Given the description of an element on the screen output the (x, y) to click on. 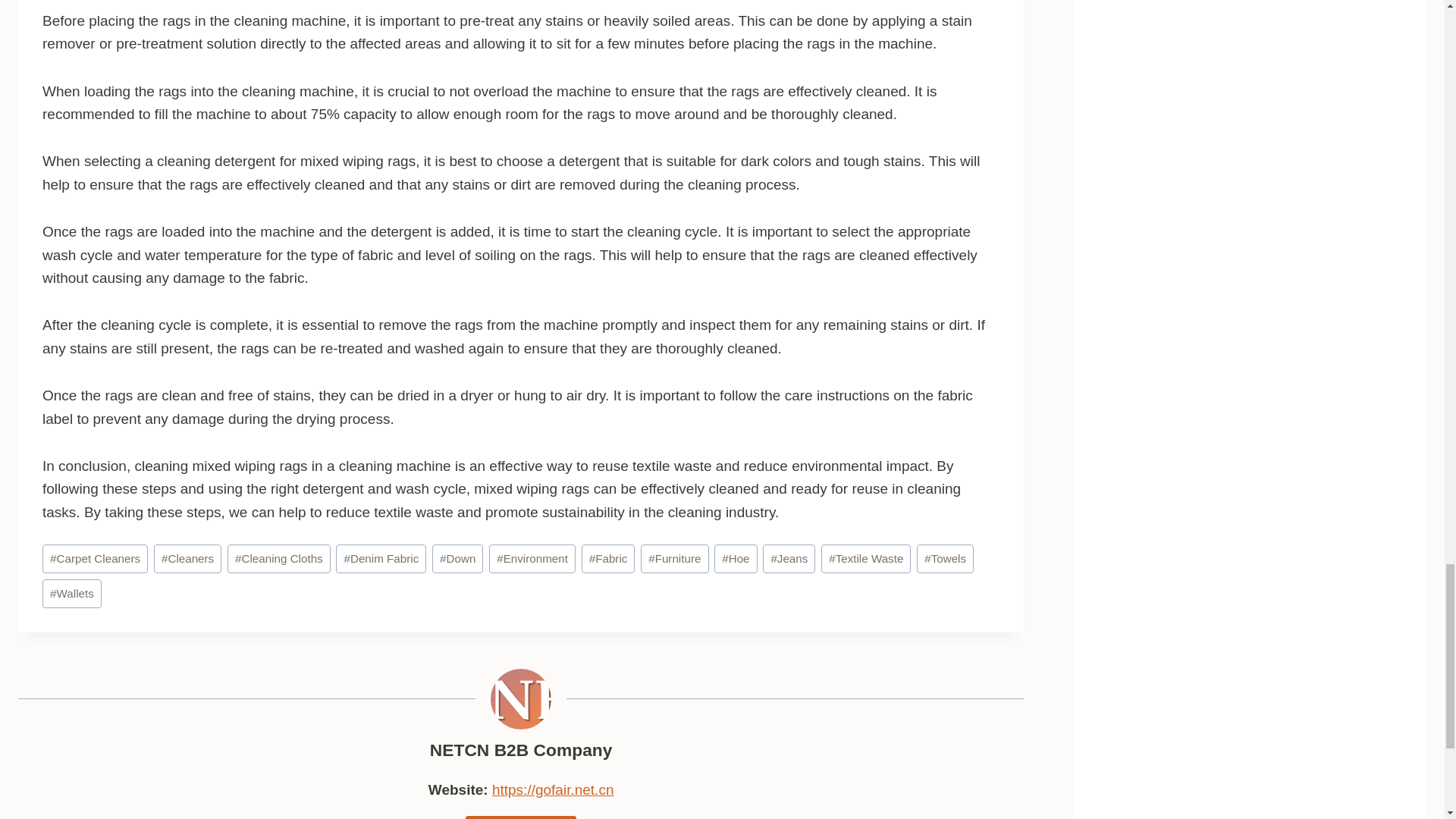
Cleaning Cloths (278, 558)
Hoe (735, 558)
Textile Waste (866, 558)
Denim Fabric (381, 558)
Fabric (607, 558)
Carpet Cleaners (95, 558)
Furniture (673, 558)
Cleaners (187, 558)
Jeans (788, 558)
Down (457, 558)
Environment (532, 558)
Towels (945, 558)
Wallets (71, 593)
